Given the description of an element on the screen output the (x, y) to click on. 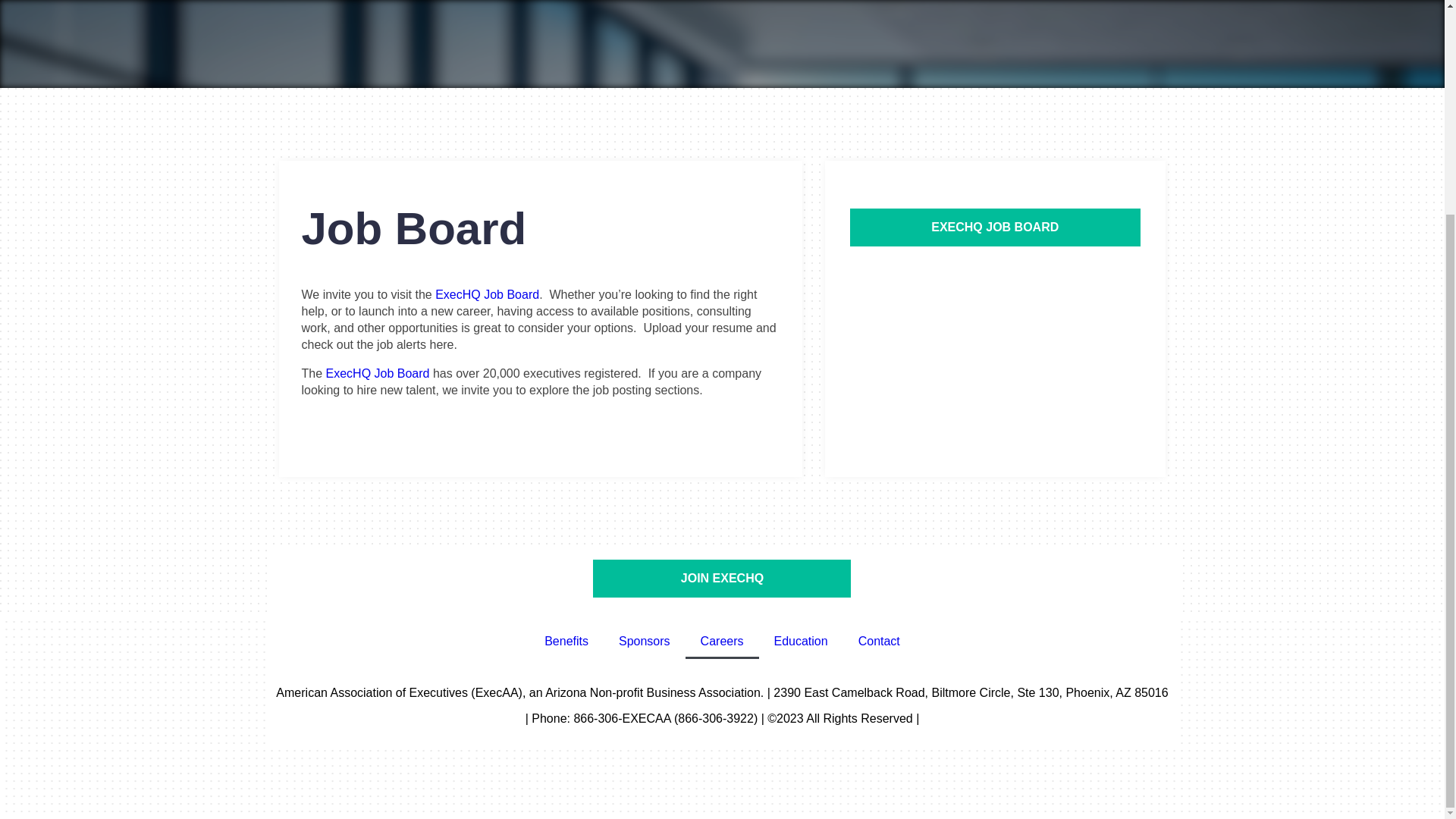
ExecHQ Job Board (486, 294)
JOIN EXECHQ (721, 578)
Benefits (566, 641)
Sponsors (644, 641)
ExecHQ Job Board (377, 373)
Careers (721, 641)
Education (800, 641)
Contact (879, 641)
EXECHQ JOB BOARD (994, 227)
